Given the description of an element on the screen output the (x, y) to click on. 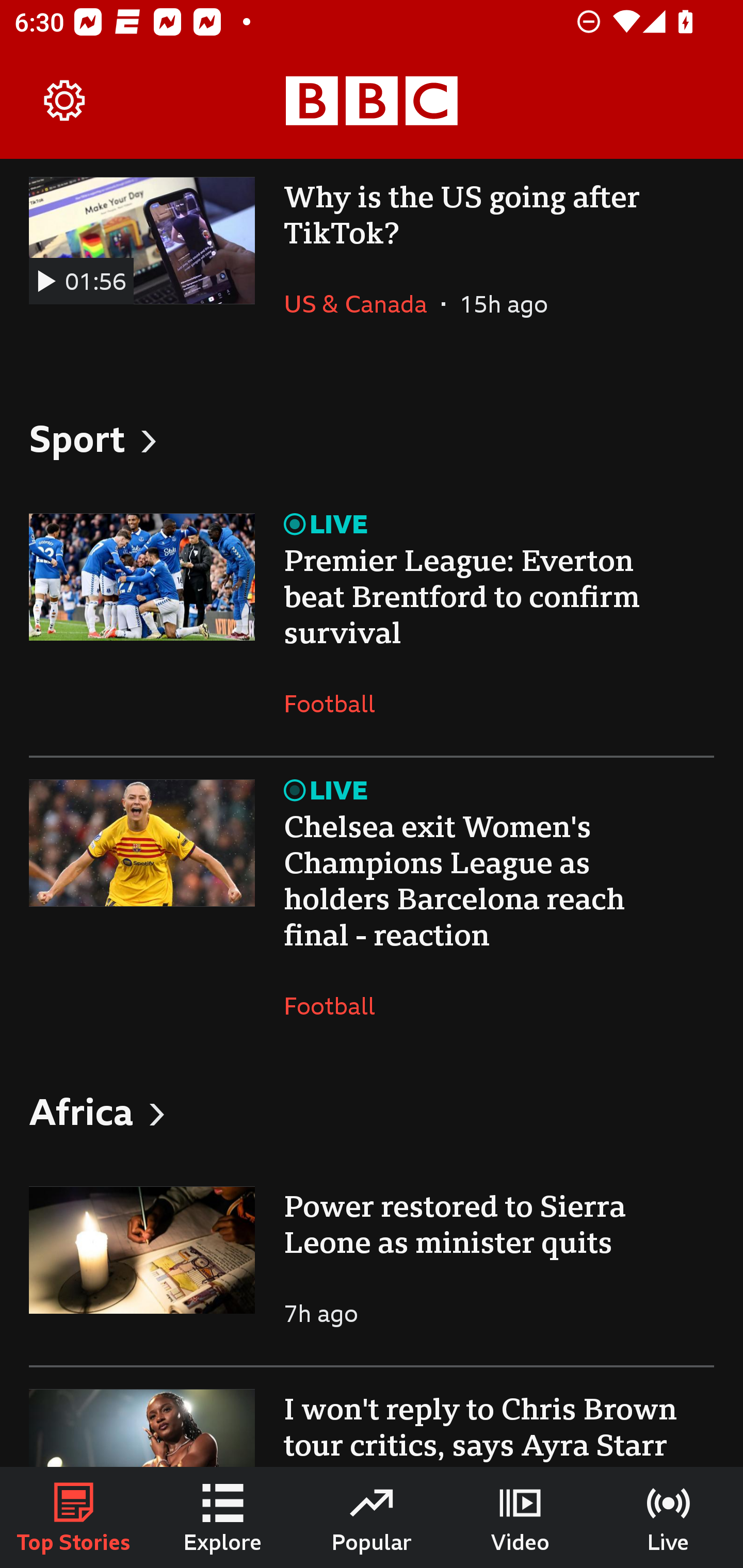
Settings (64, 100)
US & Canada In the section US & Canada (362, 303)
Sport, Heading Sport    (371, 437)
Football In the section Football (336, 702)
Football In the section Football (336, 1005)
Africa, Heading Africa    (371, 1111)
Explore (222, 1517)
Popular (371, 1517)
Video (519, 1517)
Live (668, 1517)
